Given the description of an element on the screen output the (x, y) to click on. 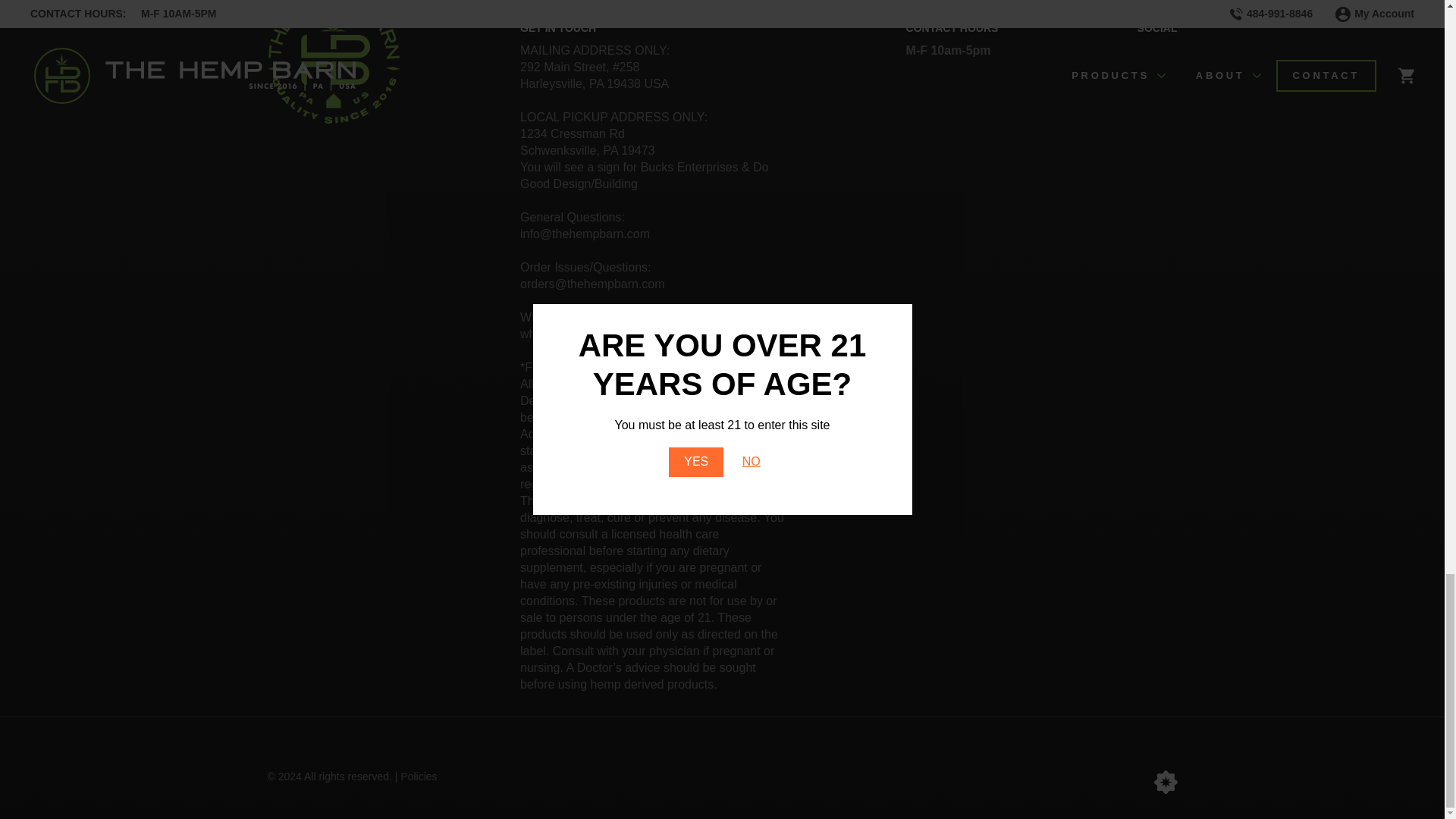
Policies (418, 776)
